Given the description of an element on the screen output the (x, y) to click on. 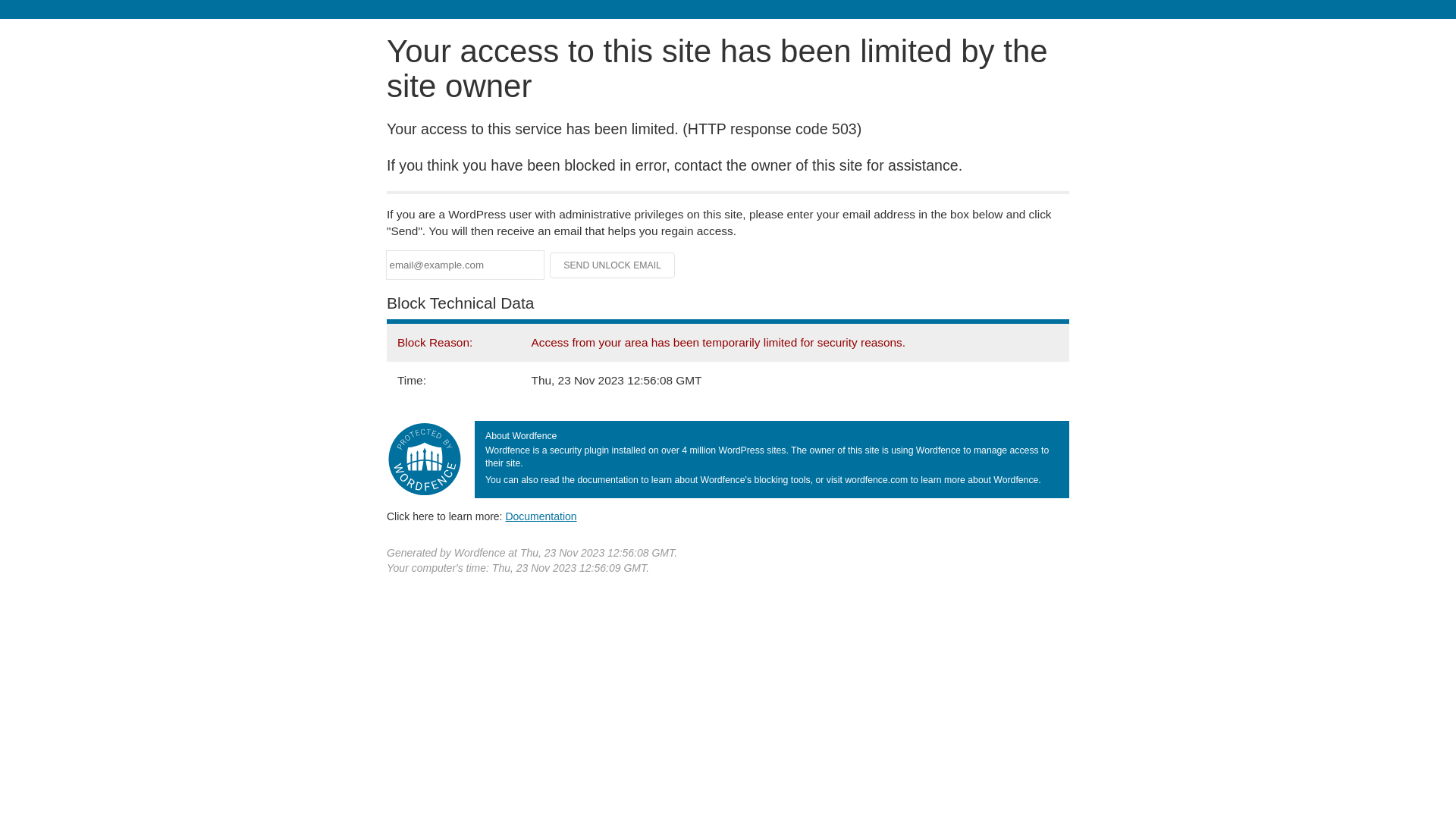
Send Unlock Email Element type: text (612, 265)
Documentation Element type: text (540, 516)
